Given the description of an element on the screen output the (x, y) to click on. 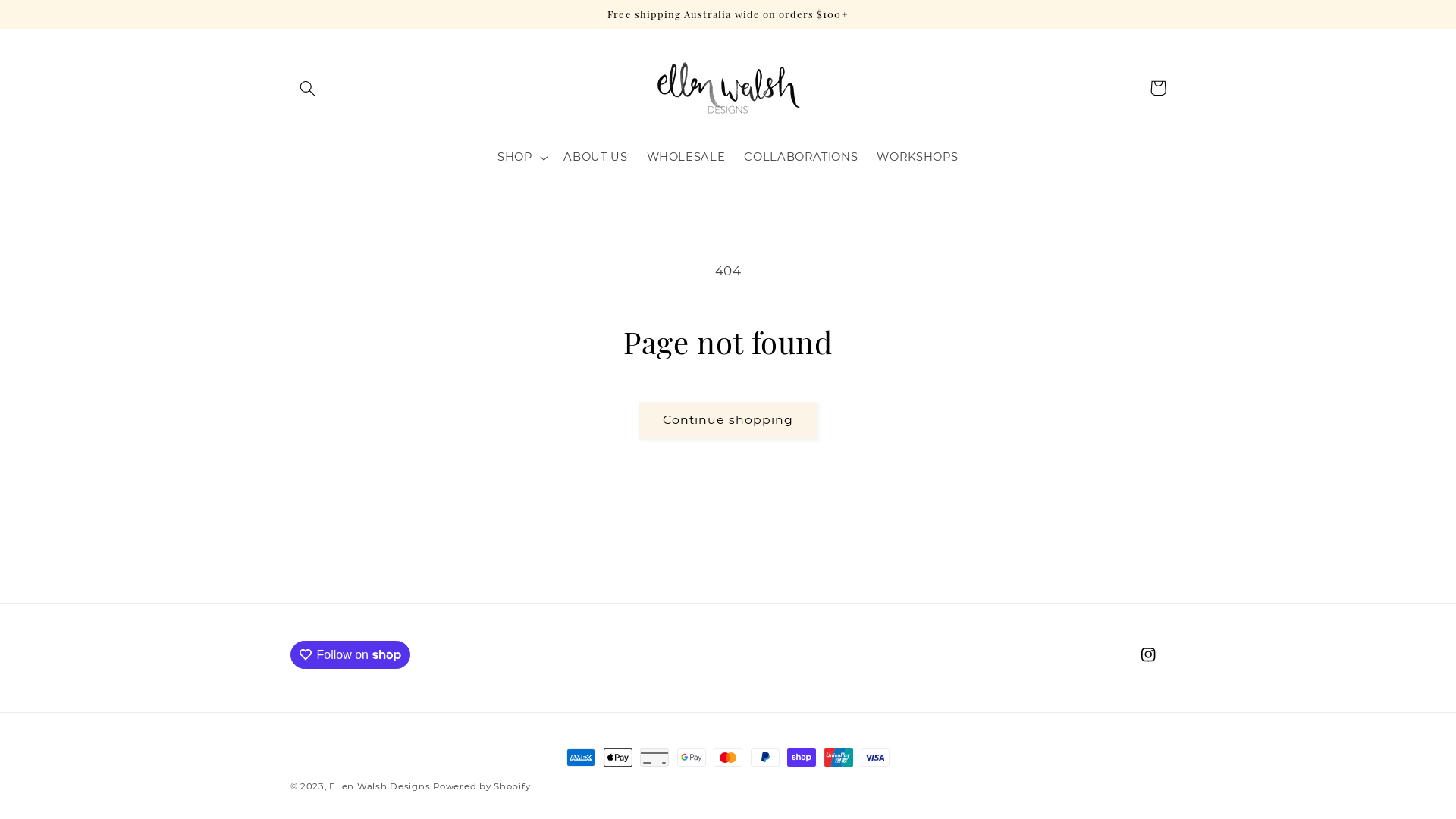
WORKSHOPS Element type: text (917, 157)
Cart Element type: text (1157, 87)
Continue shopping Element type: text (727, 420)
WHOLESALE Element type: text (685, 157)
Ellen Walsh Designs Element type: text (379, 786)
ABOUT US Element type: text (595, 157)
Powered by Shopify Element type: text (481, 786)
Instagram Element type: text (1147, 654)
COLLABORATIONS Element type: text (800, 157)
